Given the description of an element on the screen output the (x, y) to click on. 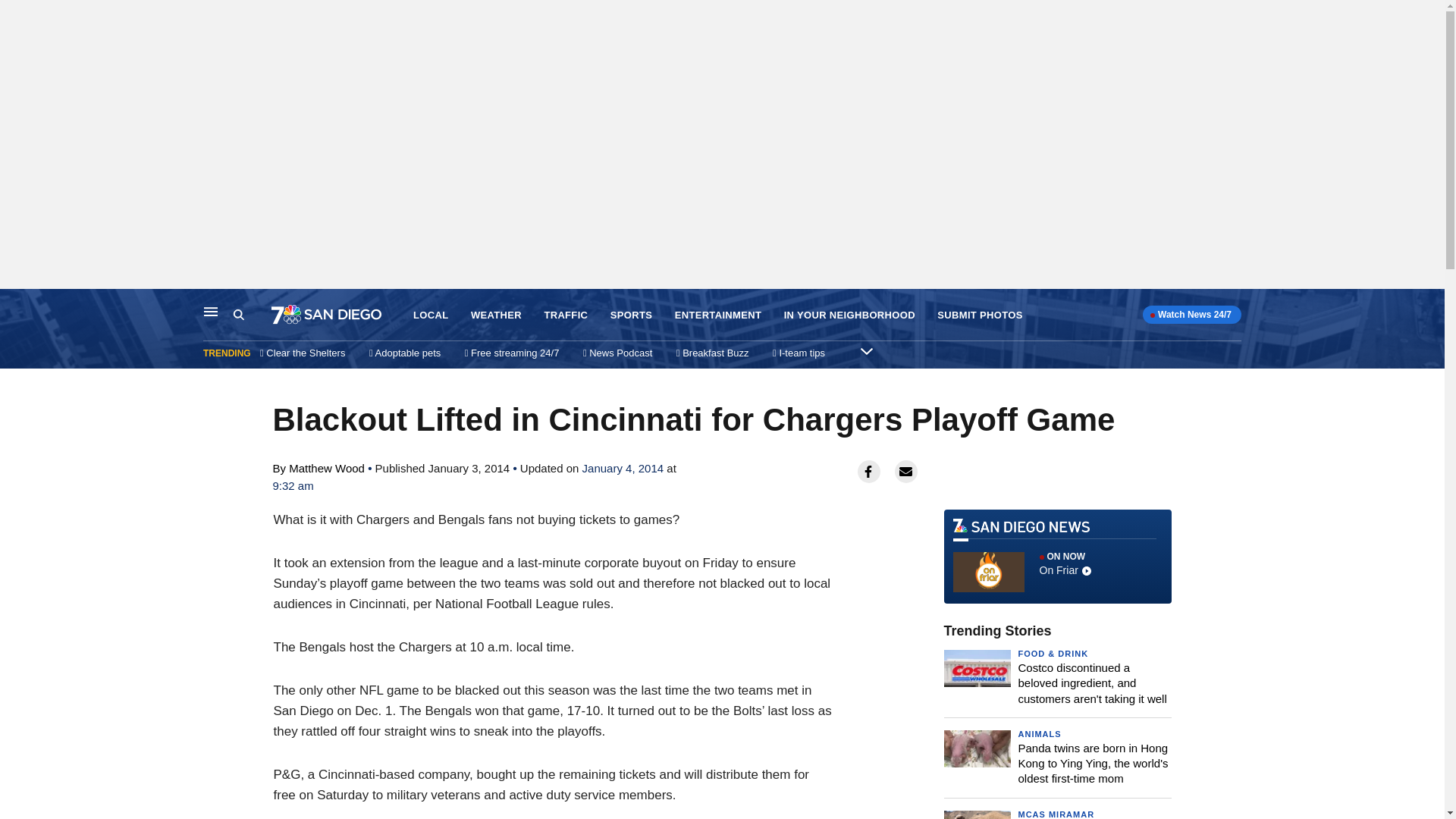
MCAS MIRAMAR (1055, 814)
WEATHER (495, 315)
Skip to content (16, 304)
Expand (1056, 556)
SPORTS (866, 350)
Main Navigation (631, 315)
ANIMALS (210, 311)
SUBMIT PHOTOS (1039, 733)
